Given the description of an element on the screen output the (x, y) to click on. 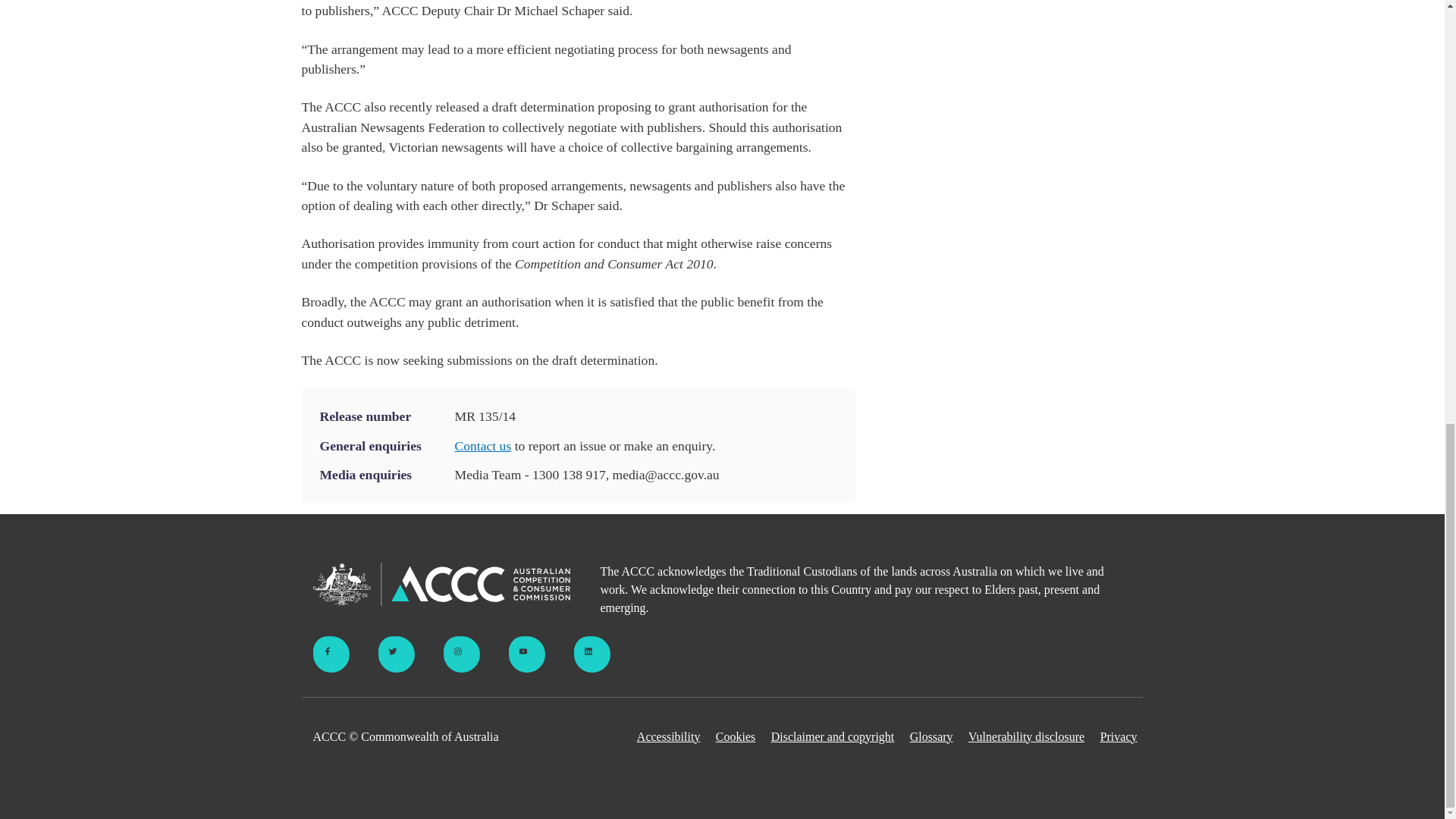
Cookies and website analytics (735, 737)
